Given the description of an element on the screen output the (x, y) to click on. 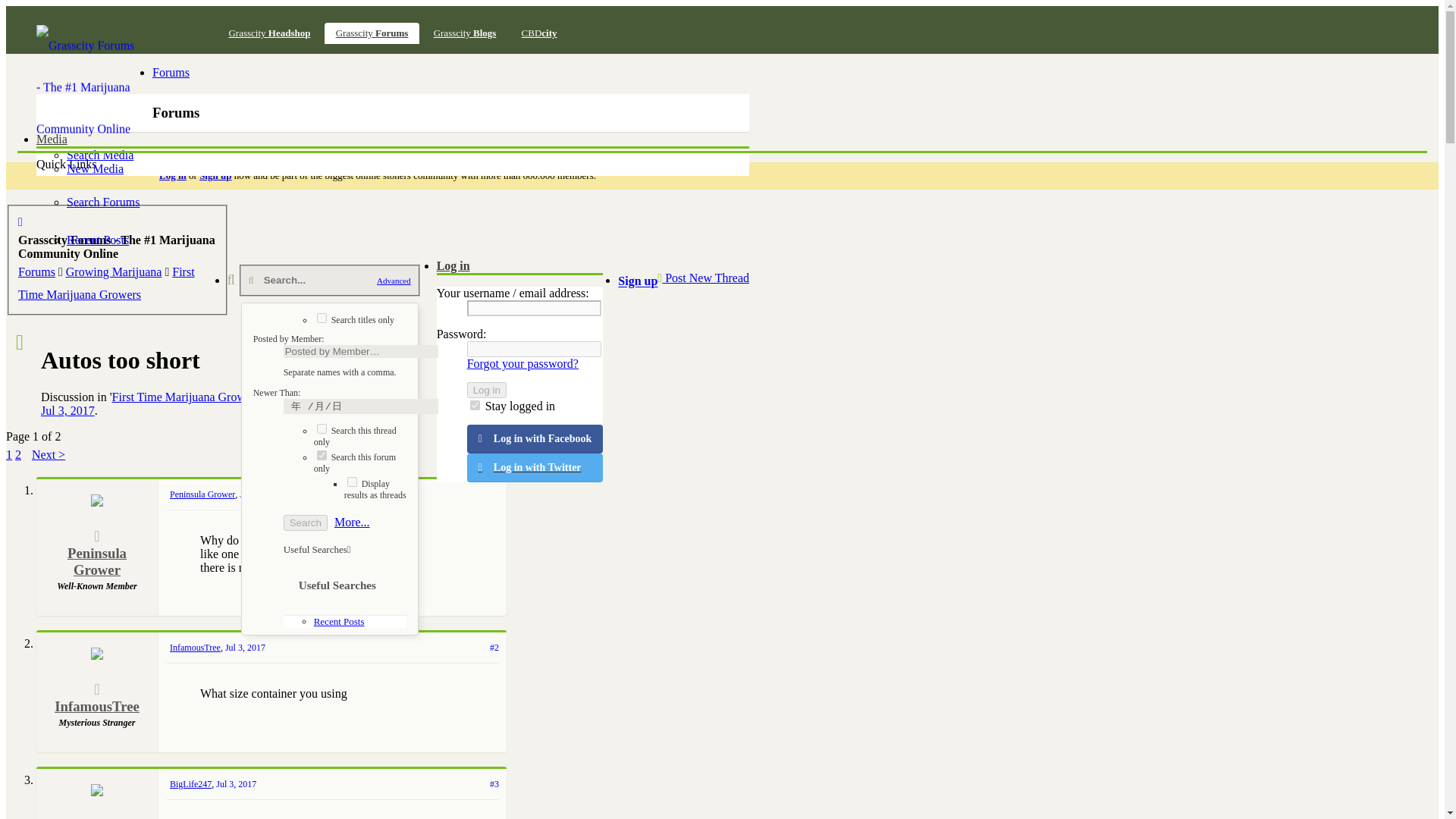
Log in with Twitter (535, 467)
Useful Searches (316, 549)
Permalink (259, 493)
More... (351, 522)
Search (305, 522)
Enter your search and hit enter (330, 280)
Media (51, 138)
New Media (94, 168)
Grasscity Blogs (465, 33)
Advanced Search (351, 522)
Log in (453, 265)
Search only First Time Marijuana Growers (355, 463)
Log in with Facebook (535, 439)
1 (321, 317)
Post New Thread (703, 278)
